Given the description of an element on the screen output the (x, y) to click on. 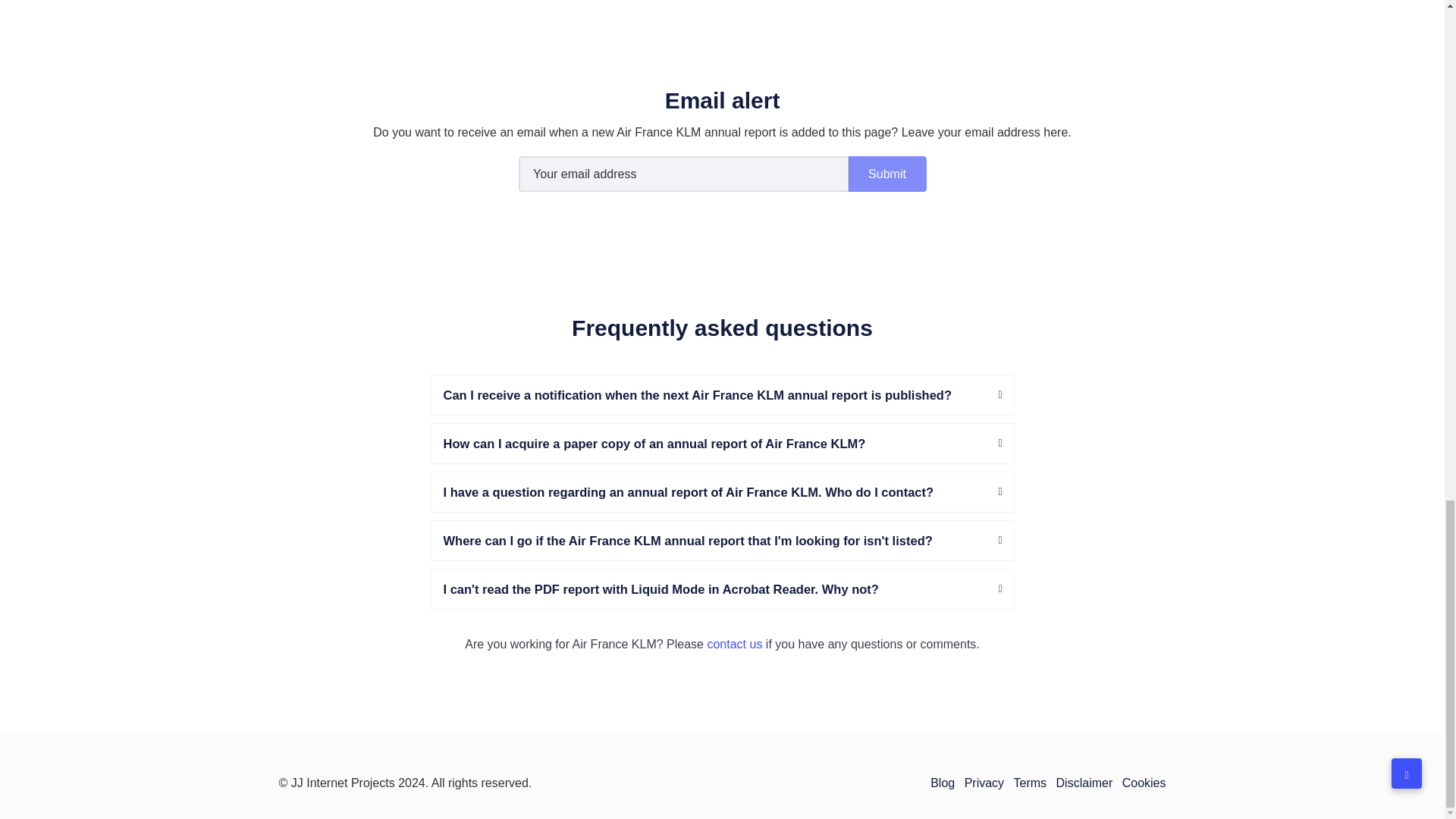
Privacy (983, 782)
contact us (733, 644)
Blog (942, 782)
Submit (887, 173)
Submit (887, 173)
Cookies (1144, 782)
Disclaimer (1085, 782)
